Given the description of an element on the screen output the (x, y) to click on. 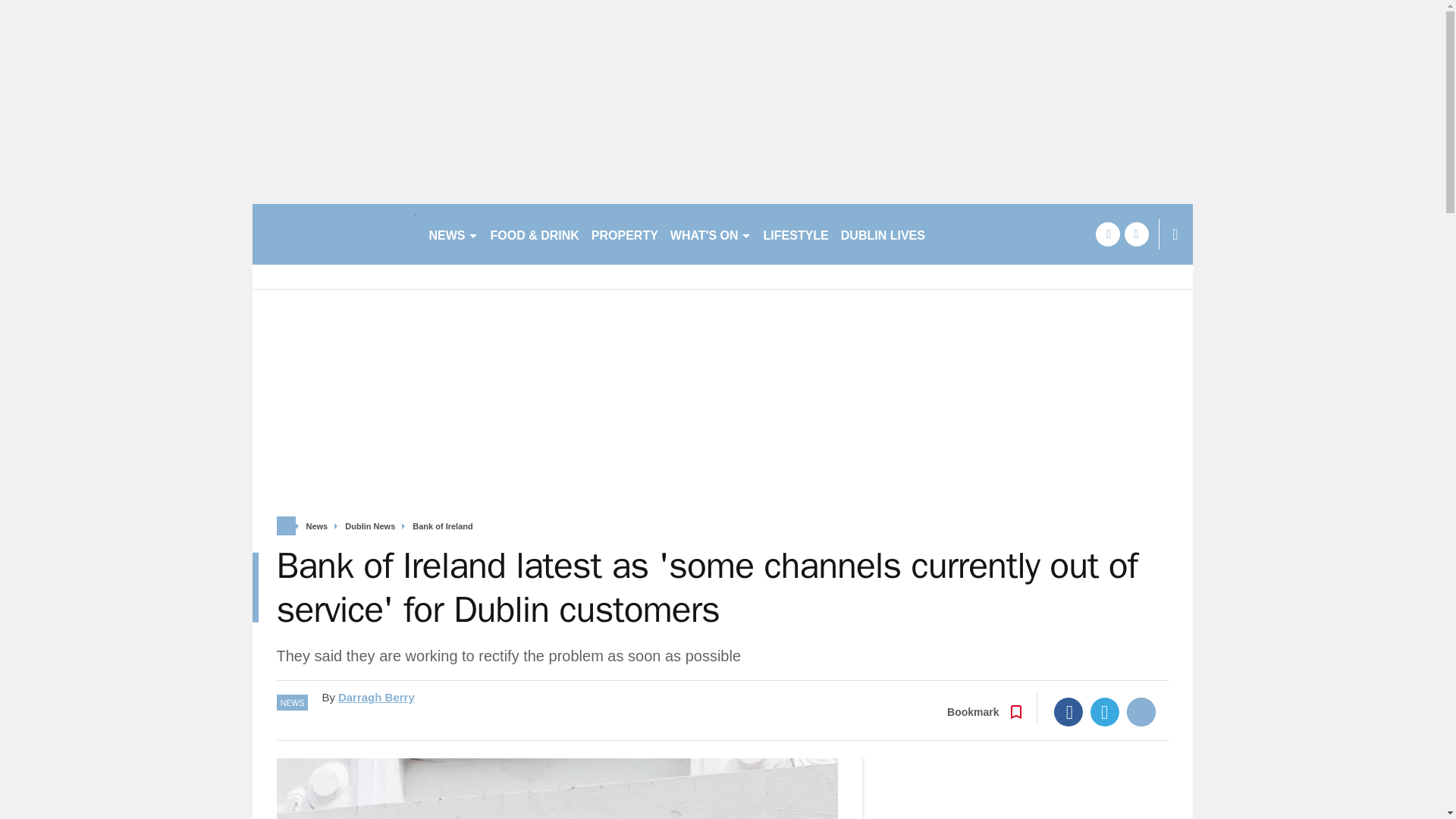
SOCCER (962, 233)
PROPERTY (624, 233)
facebook (1106, 233)
LIFESTYLE (795, 233)
WHAT'S ON (710, 233)
Twitter (1104, 711)
twitter (1136, 233)
NEWS (453, 233)
Facebook (1068, 711)
DUBLIN LIVES (882, 233)
dublinlive (332, 233)
